Given the description of an element on the screen output the (x, y) to click on. 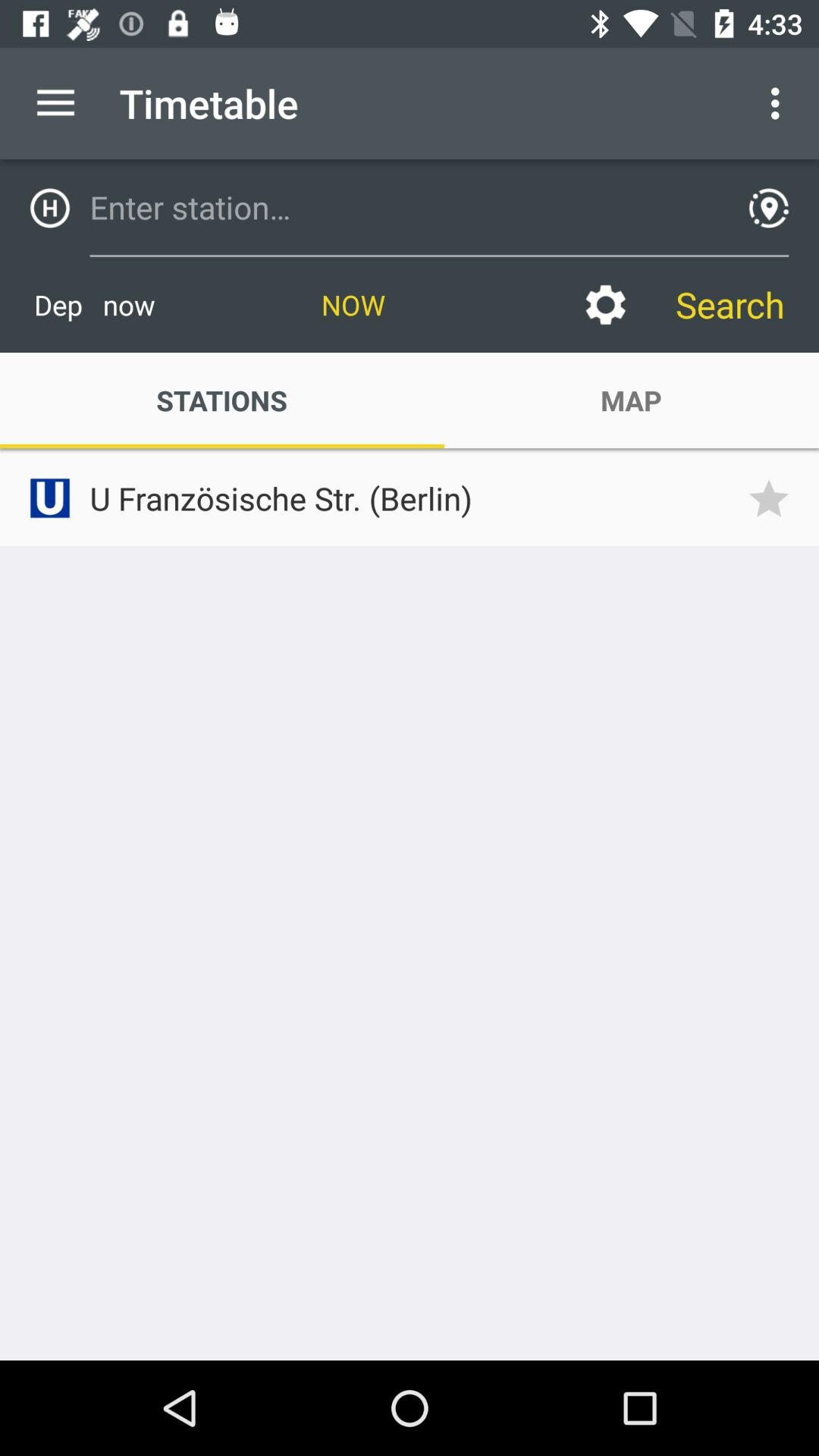
tap the item above map (605, 304)
